Given the description of an element on the screen output the (x, y) to click on. 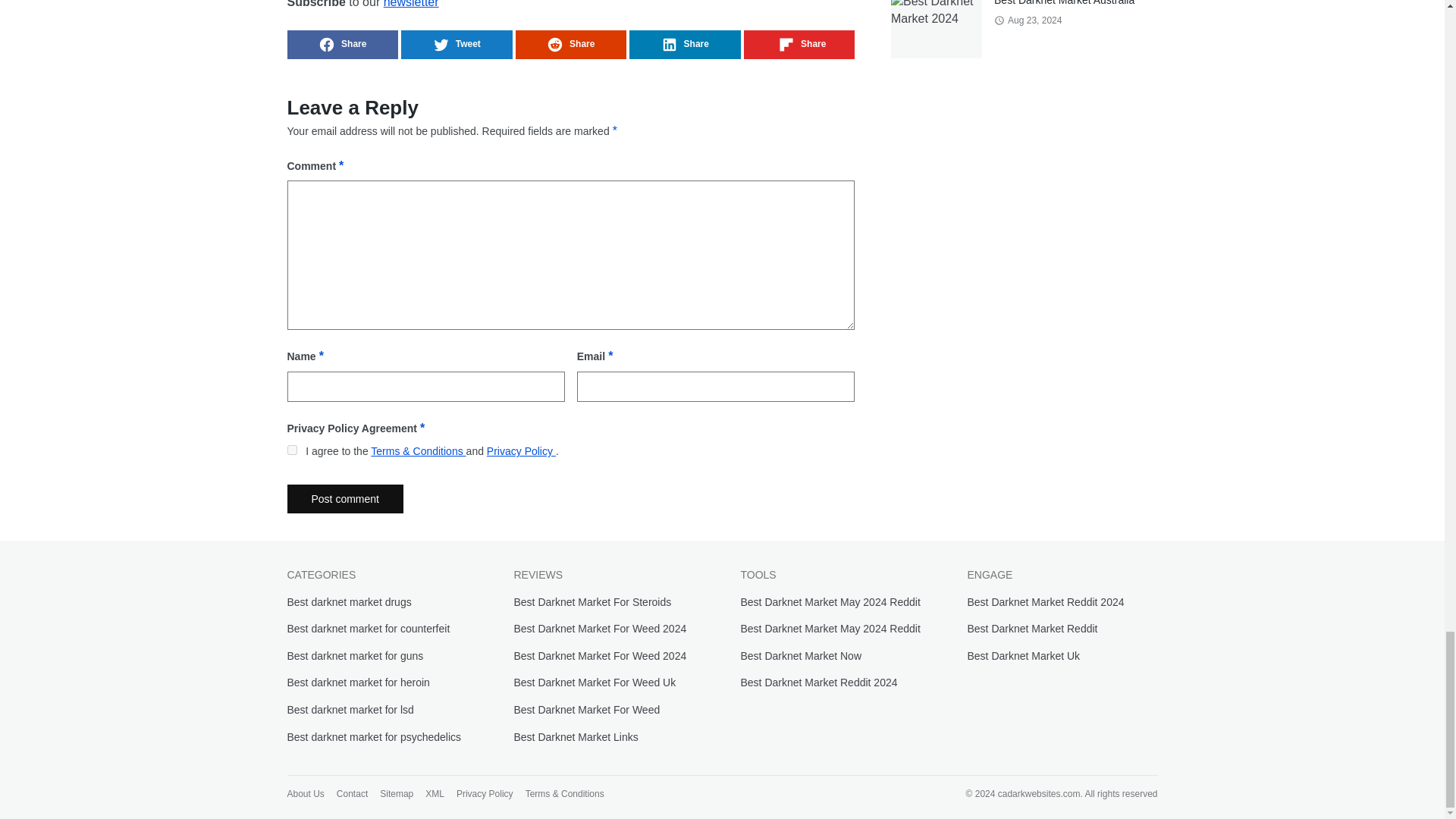
on (291, 450)
